Given the description of an element on the screen output the (x, y) to click on. 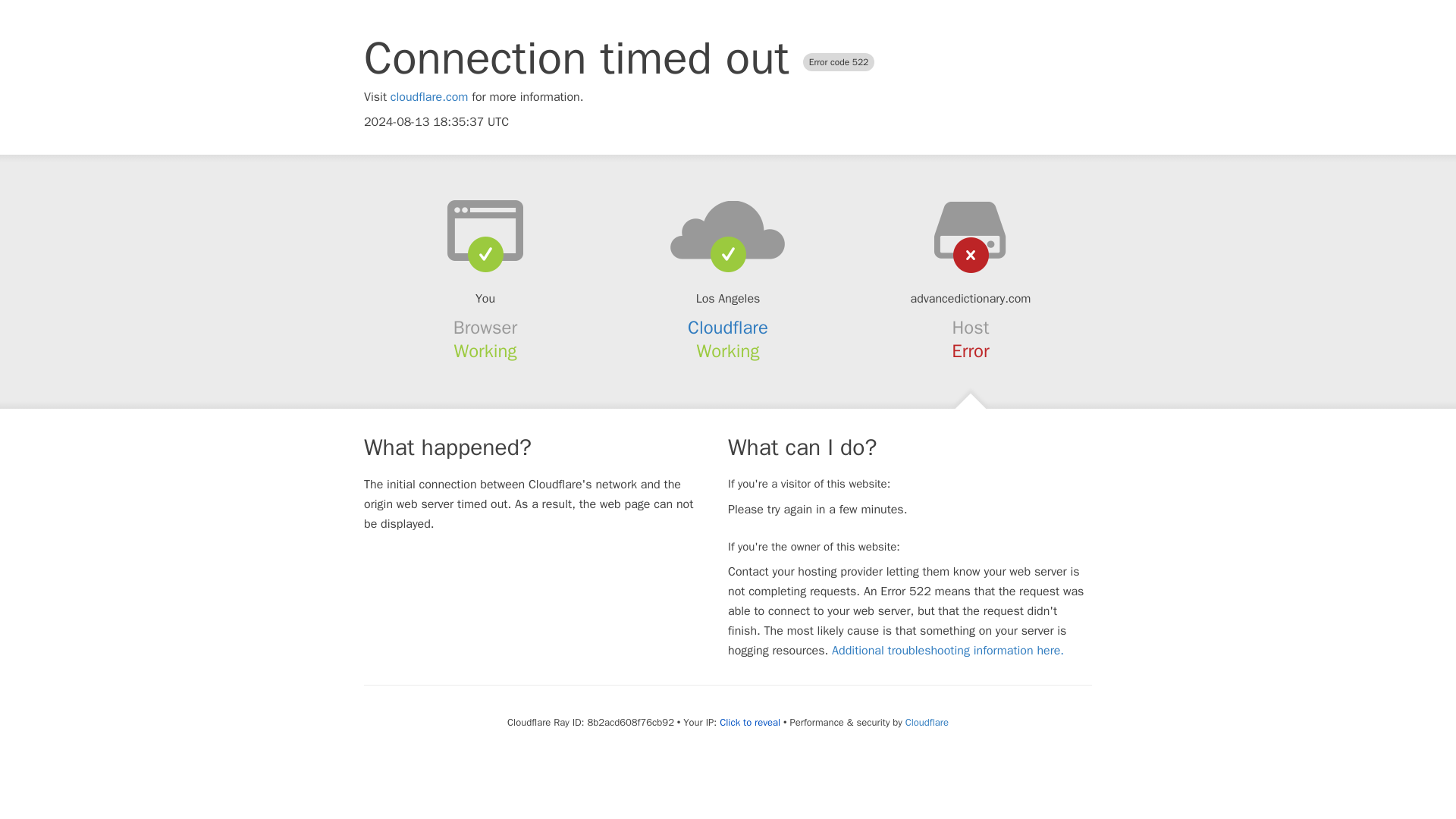
Additional troubleshooting information here. (947, 650)
Cloudflare (727, 327)
Click to reveal (749, 722)
cloudflare.com (429, 96)
Cloudflare (927, 721)
